Given the description of an element on the screen output the (x, y) to click on. 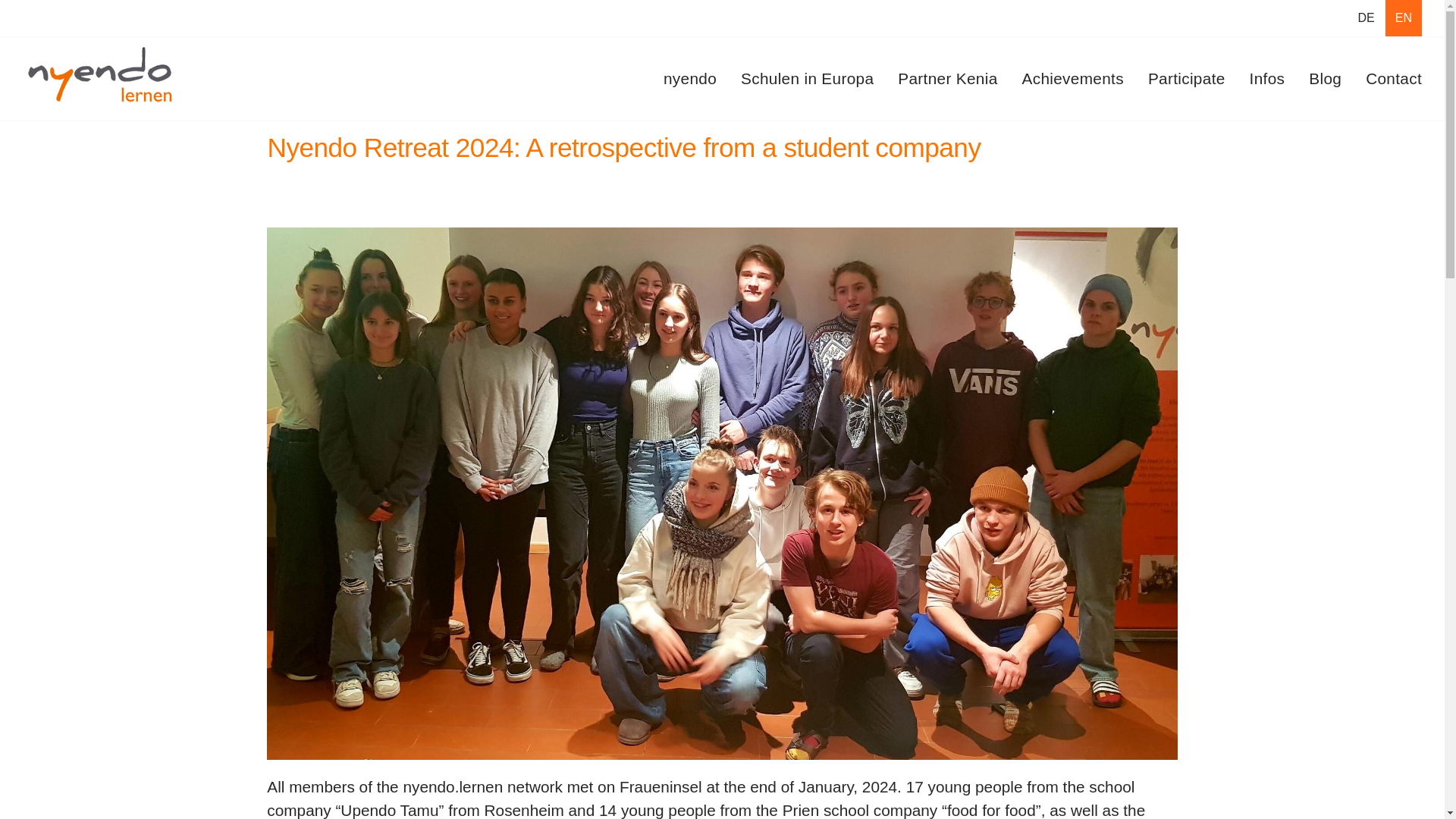
DE (1366, 18)
EN (1404, 18)
EN (1404, 18)
Schulen in Europa (807, 78)
Achievements (1073, 78)
DE (1366, 18)
Partner Kenia (947, 78)
Participate (1186, 78)
